Given the description of an element on the screen output the (x, y) to click on. 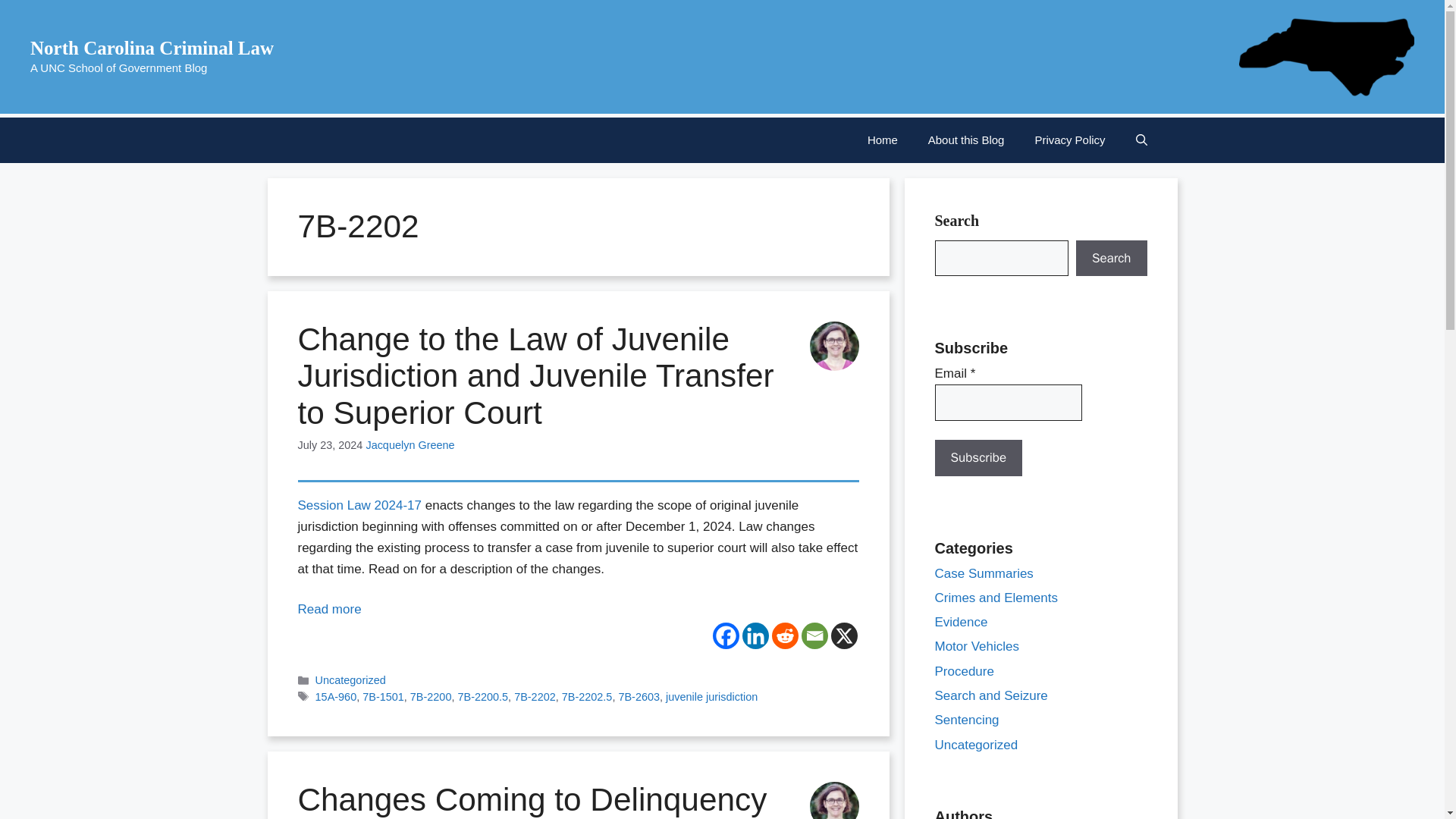
Home (881, 139)
Jacquelyn Greene (409, 444)
About this Blog (966, 139)
Email (813, 635)
7B-2603 (638, 696)
7B-2202.5 (587, 696)
7B-2200 (430, 696)
North Carolina Criminal Law (151, 47)
7B-2200.5 (482, 696)
